Given the description of an element on the screen output the (x, y) to click on. 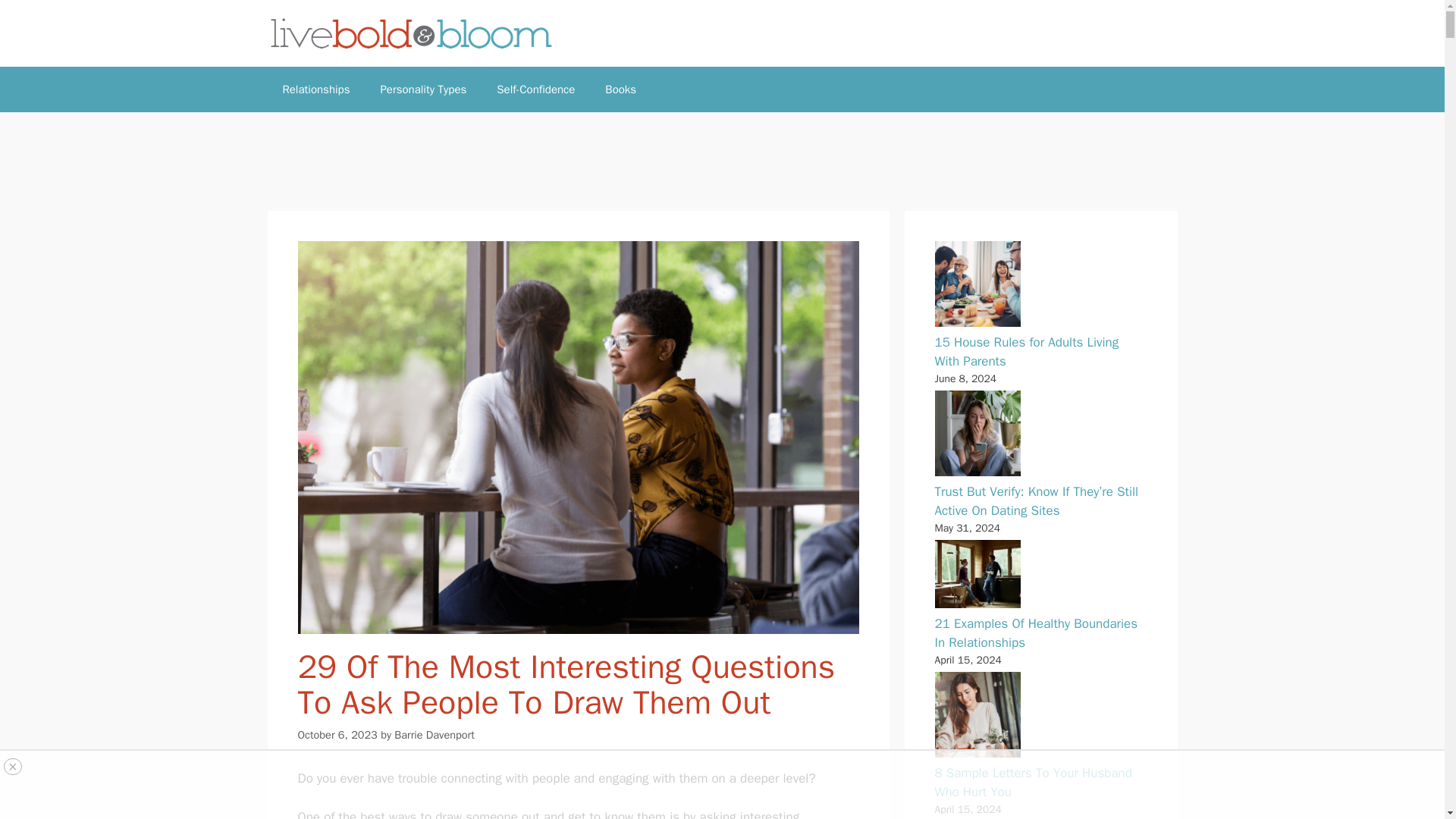
Relationships (315, 89)
Books (619, 89)
View all posts by Barrie Davenport (434, 735)
Barrie Davenport (434, 735)
Personality Types (423, 89)
Self-Confidence (535, 89)
